Given the description of an element on the screen output the (x, y) to click on. 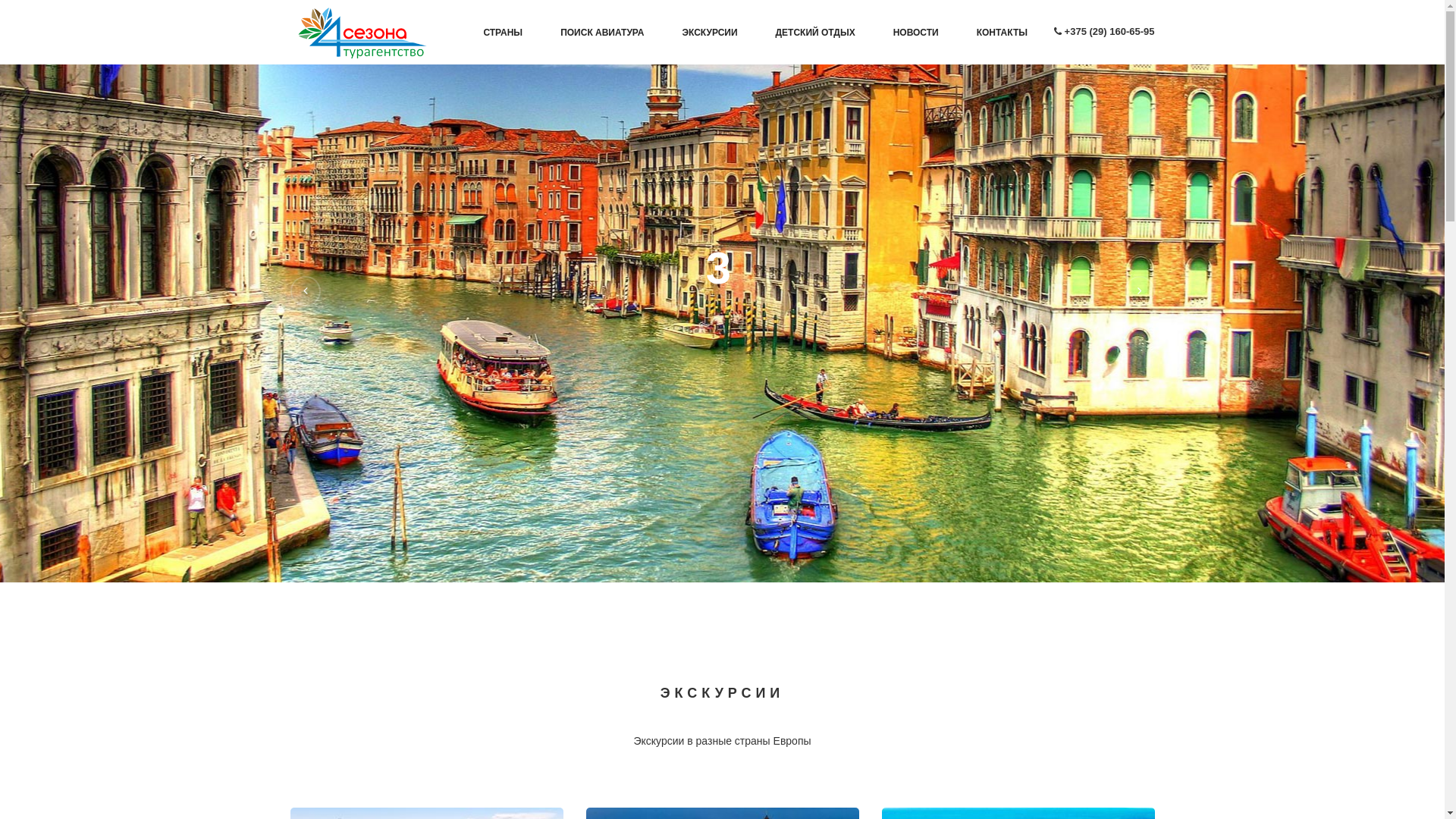
+375 (29) 160-65-95 Element type: text (1109, 31)
